Given the description of an element on the screen output the (x, y) to click on. 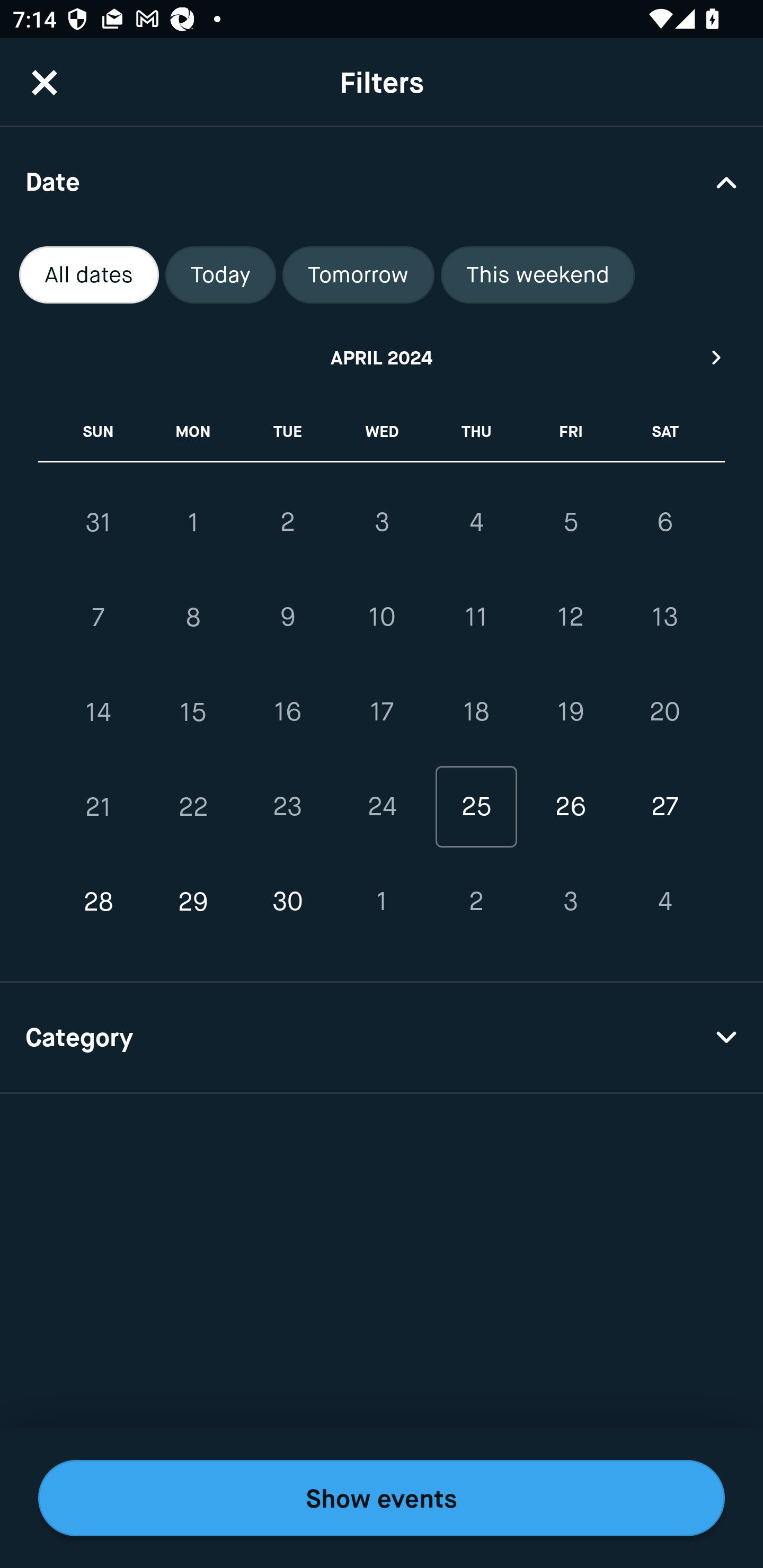
CloseButton (44, 82)
Date Drop Down Arrow (381, 181)
All dates (88, 274)
Today (220, 274)
Tomorrow (358, 274)
This weekend (537, 274)
Next (717, 357)
31 (98, 522)
1 (192, 522)
2 (287, 522)
3 (381, 522)
4 (475, 522)
5 (570, 522)
6 (664, 522)
7 (98, 617)
8 (192, 617)
9 (287, 617)
10 (381, 617)
11 (475, 617)
12 (570, 617)
13 (664, 617)
14 (98, 711)
15 (192, 711)
16 (287, 711)
17 (381, 711)
18 (475, 711)
19 (570, 711)
20 (664, 711)
21 (98, 806)
22 (192, 806)
23 (287, 806)
24 (381, 806)
25 (475, 806)
26 (570, 806)
27 (664, 806)
28 (98, 901)
29 (192, 901)
30 (287, 901)
1 (381, 901)
2 (475, 901)
3 (570, 901)
4 (664, 901)
Category Drop Down Arrow (381, 1038)
Show events (381, 1497)
